Given the description of an element on the screen output the (x, y) to click on. 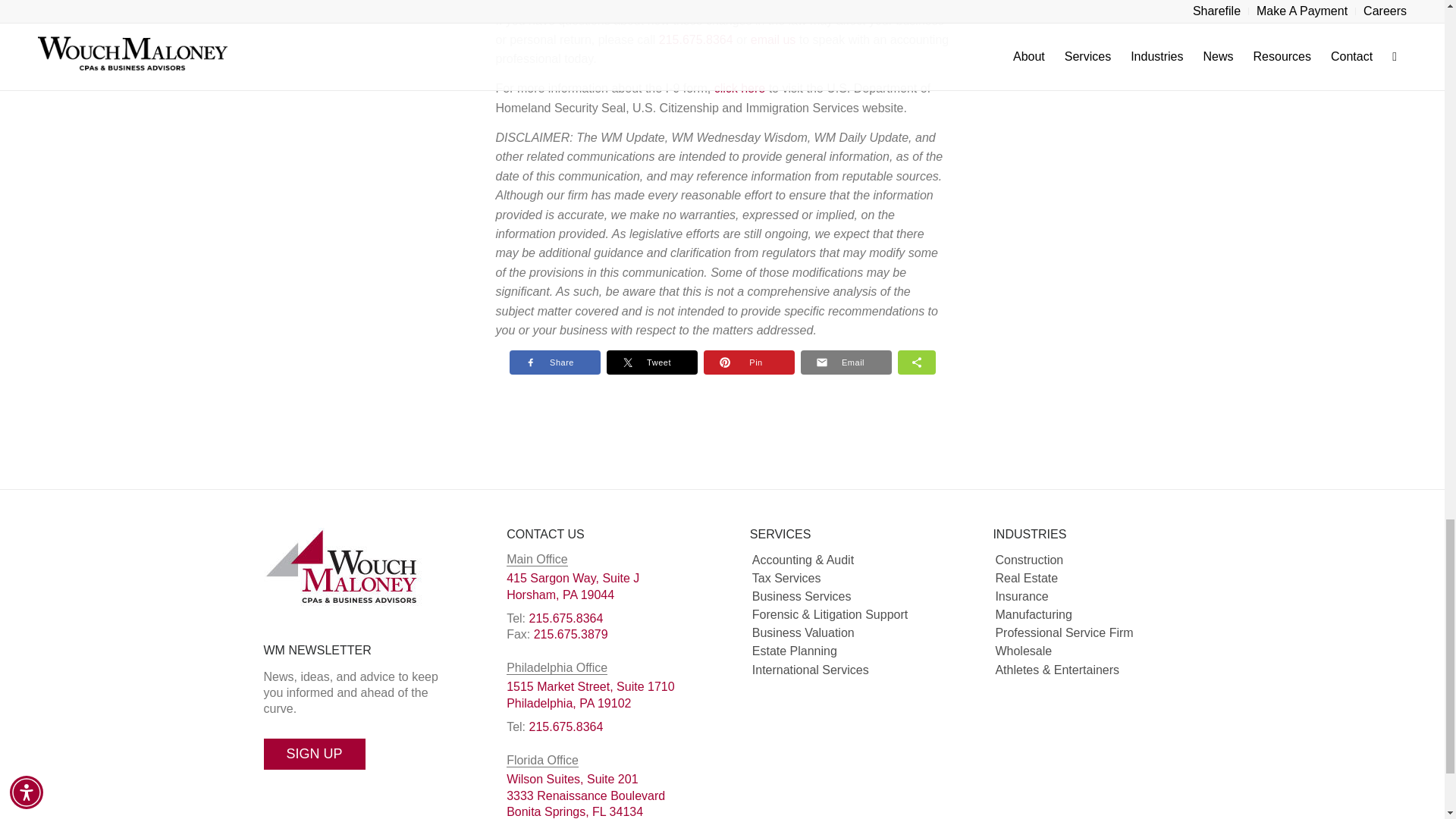
email us (773, 39)
click here (739, 88)
footer-logo (342, 566)
215.675.8364 (572, 586)
215.675.8364 (696, 39)
SIGN UP (565, 617)
